Given the description of an element on the screen output the (x, y) to click on. 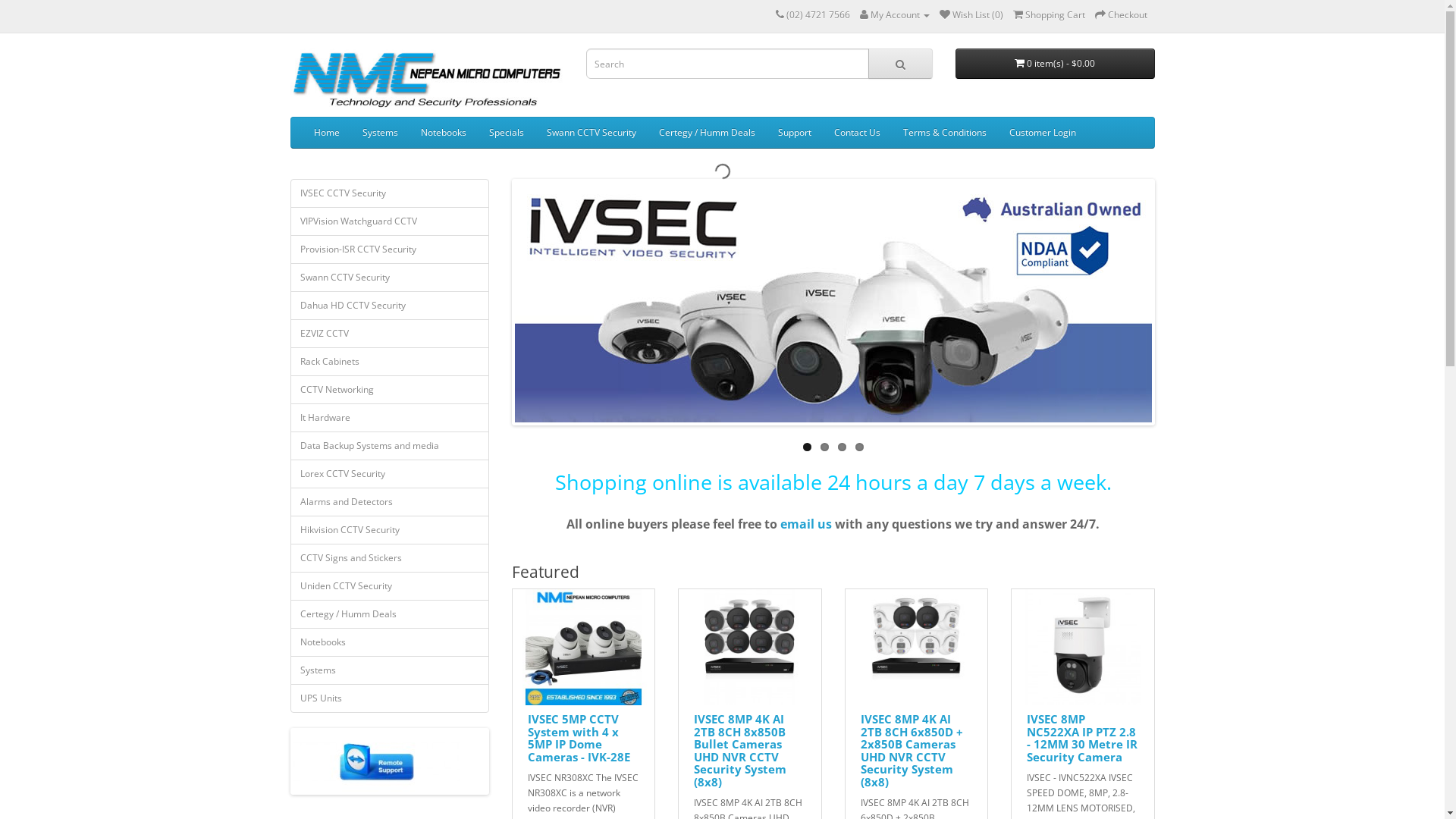
UPS Units Element type: text (389, 698)
Rack Cabinets Element type: text (389, 361)
Home Element type: text (325, 132)
Notebooks Element type: text (389, 641)
IVSEC CCTV Security Element type: text (389, 192)
Systems Element type: text (389, 669)
Certegy / Humm Deals Element type: text (706, 132)
CCTV Signs and Stickers Element type: text (389, 557)
Wish List (0) Element type: text (970, 14)
Support Element type: text (793, 132)
It Hardware Element type: text (389, 417)
Uniden CCTV Security Element type: text (389, 585)
Swann CCTV Security Element type: text (389, 277)
CCTV Networking Element type: text (389, 389)
Terms & Conditions Element type: text (944, 132)
Customer Login Element type: text (1042, 132)
email us Element type: text (805, 523)
Systems Element type: text (379, 132)
IVSEC 5MP CCTV System with 4 x 5MP IP Dome Cameras - IVK-28E Element type: text (578, 737)
EZVIZ CCTV Element type: text (389, 333)
Lorex CCTV Security Element type: text (389, 473)
Notebooks Element type: text (443, 132)
Specials Element type: text (506, 132)
Alarms and Detectors Element type: text (389, 501)
Hikvision CCTV Security Element type: text (389, 529)
Provision-ISR CCTV Security Element type: text (389, 249)
Data Backup Systems and media Element type: text (389, 445)
Shopping Cart Element type: text (1049, 14)
Checkout Element type: text (1121, 14)
Dahua HD CCTV Security Element type: text (389, 305)
IVSEC 5MP CCTV System with 4 x 5MP IP Dome Cameras - IVK-28E Element type: hover (583, 647)
Certegy / Humm Deals Element type: text (389, 613)
Nepean Micro Computers - Established Since 1993   Element type: hover (425, 78)
VIPVision Watchguard CCTV Element type: text (389, 221)
Swann CCTV Security Element type: text (591, 132)
0 item(s) - $0.00 Element type: text (1054, 63)
My Account Element type: text (894, 14)
Contact Us Element type: text (856, 132)
